Given the description of an element on the screen output the (x, y) to click on. 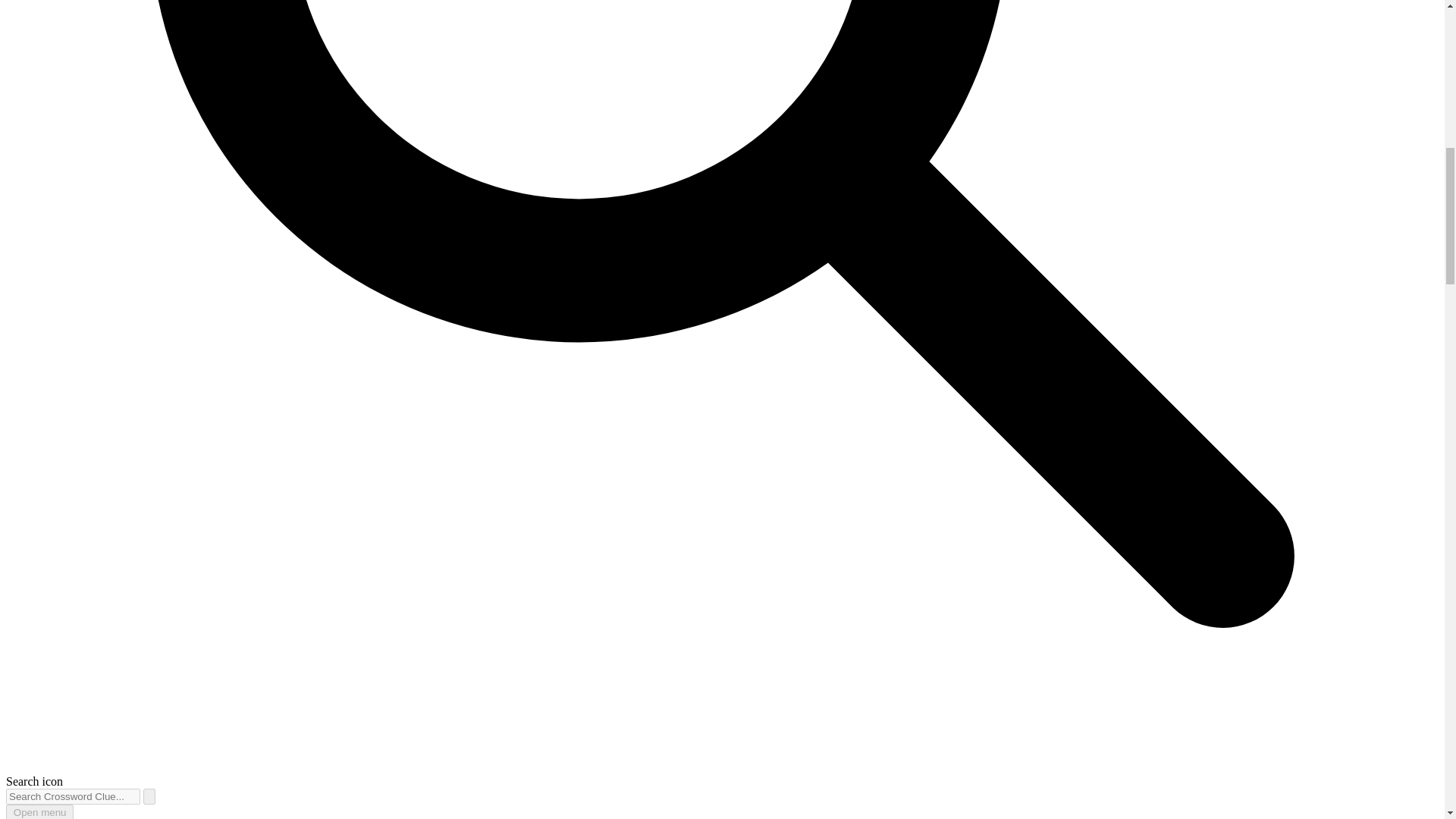
Open menu (39, 811)
